Given the description of an element on the screen output the (x, y) to click on. 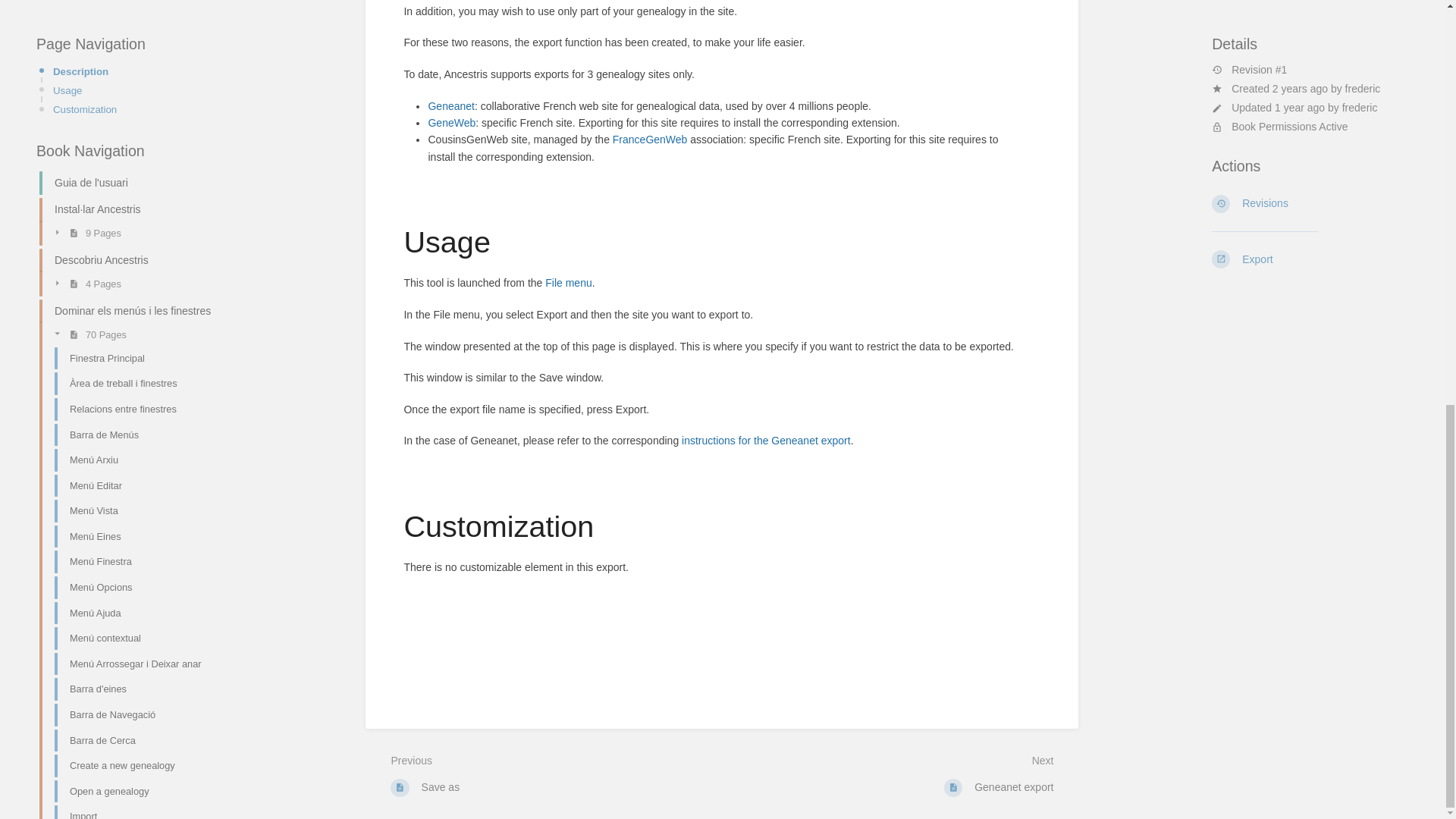
Site officiel de GeneWeb (452, 122)
Site officiel de FranceGenWeb (649, 139)
Geneanet export (765, 440)
Site officiel de Geneanet (451, 105)
File Menu (567, 282)
